Given the description of an element on the screen output the (x, y) to click on. 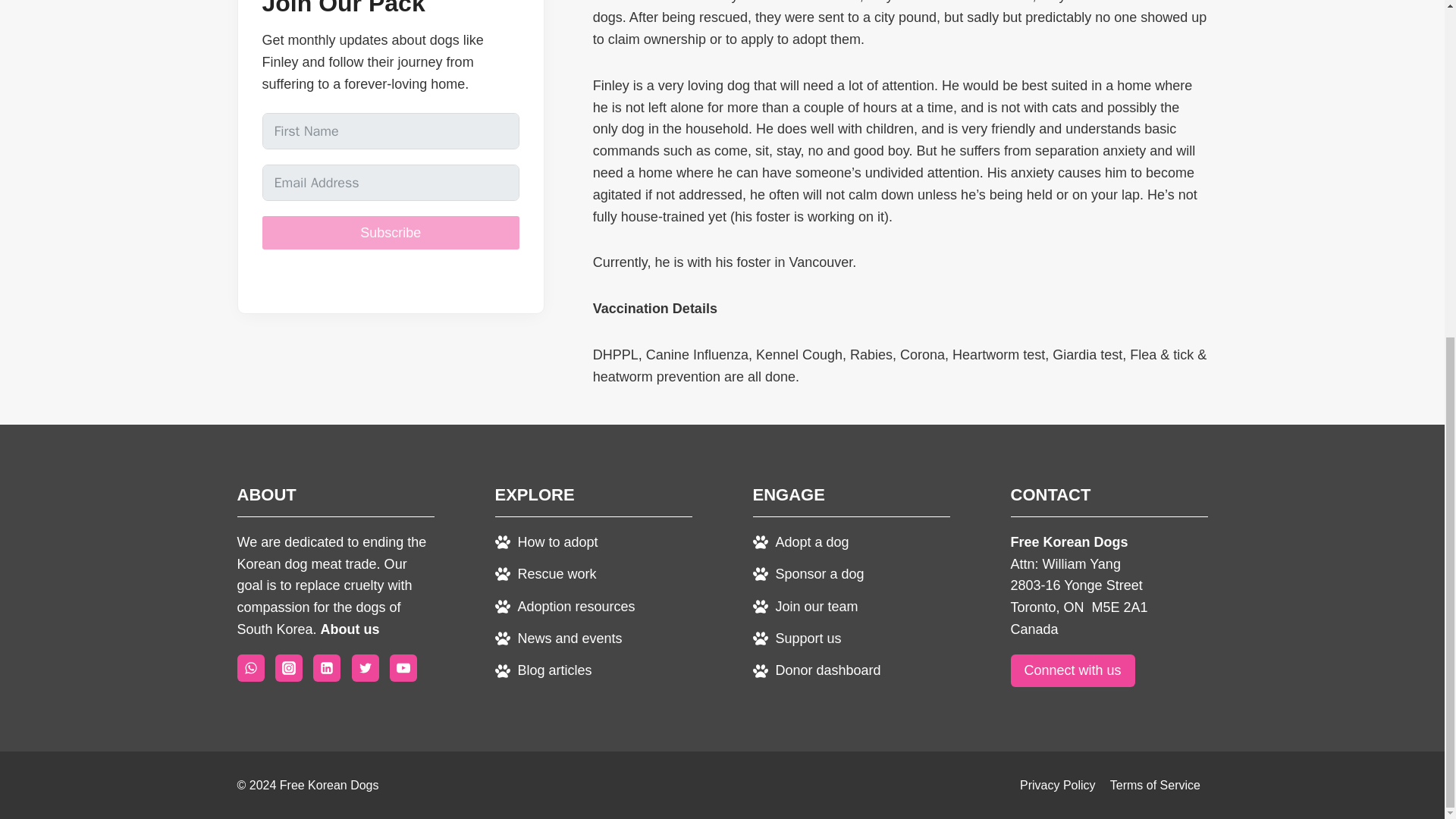
Terms of Service (1154, 785)
News and events (558, 638)
Adoption resources (564, 606)
Support us (796, 638)
Donor dashboard (816, 670)
Connect with us (1072, 670)
Rescue work (545, 573)
Blog articles (543, 670)
Privacy Policy (1056, 785)
Sponsor a dog (807, 573)
How to adopt (545, 541)
Adopt a dog (800, 541)
Join our team (804, 606)
About us (350, 629)
Subscribe (390, 232)
